Given the description of an element on the screen output the (x, y) to click on. 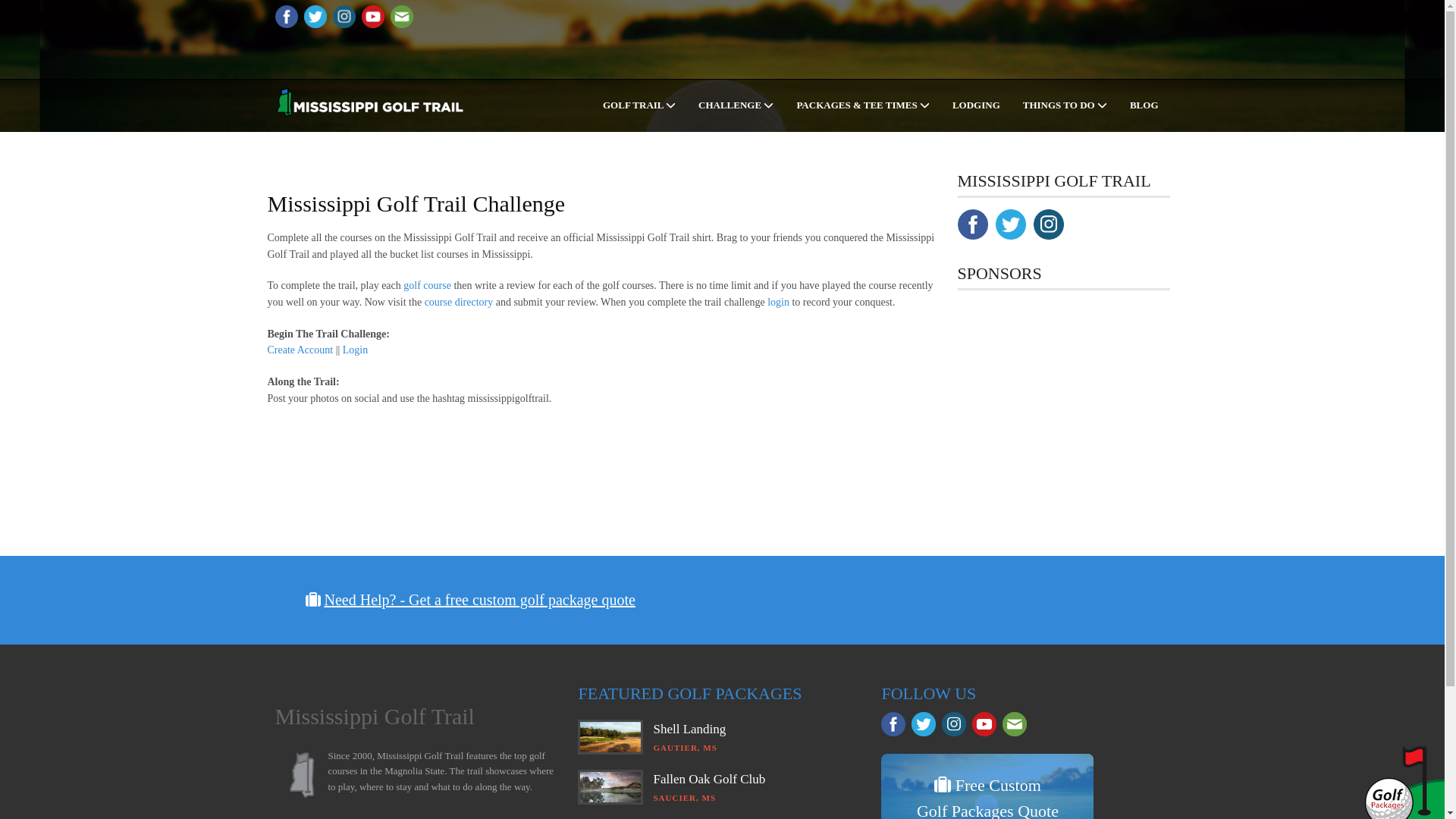
BLOG (1144, 105)
Create Account (299, 349)
golf course (427, 285)
THINGS TO DO (1064, 105)
GOLF TRAIL (639, 105)
Login (355, 349)
CHALLENGE (735, 105)
LODGING (975, 105)
course directory (459, 301)
login (778, 301)
Need Help? - Get a free custom golf package quote (479, 599)
